Given the description of an element on the screen output the (x, y) to click on. 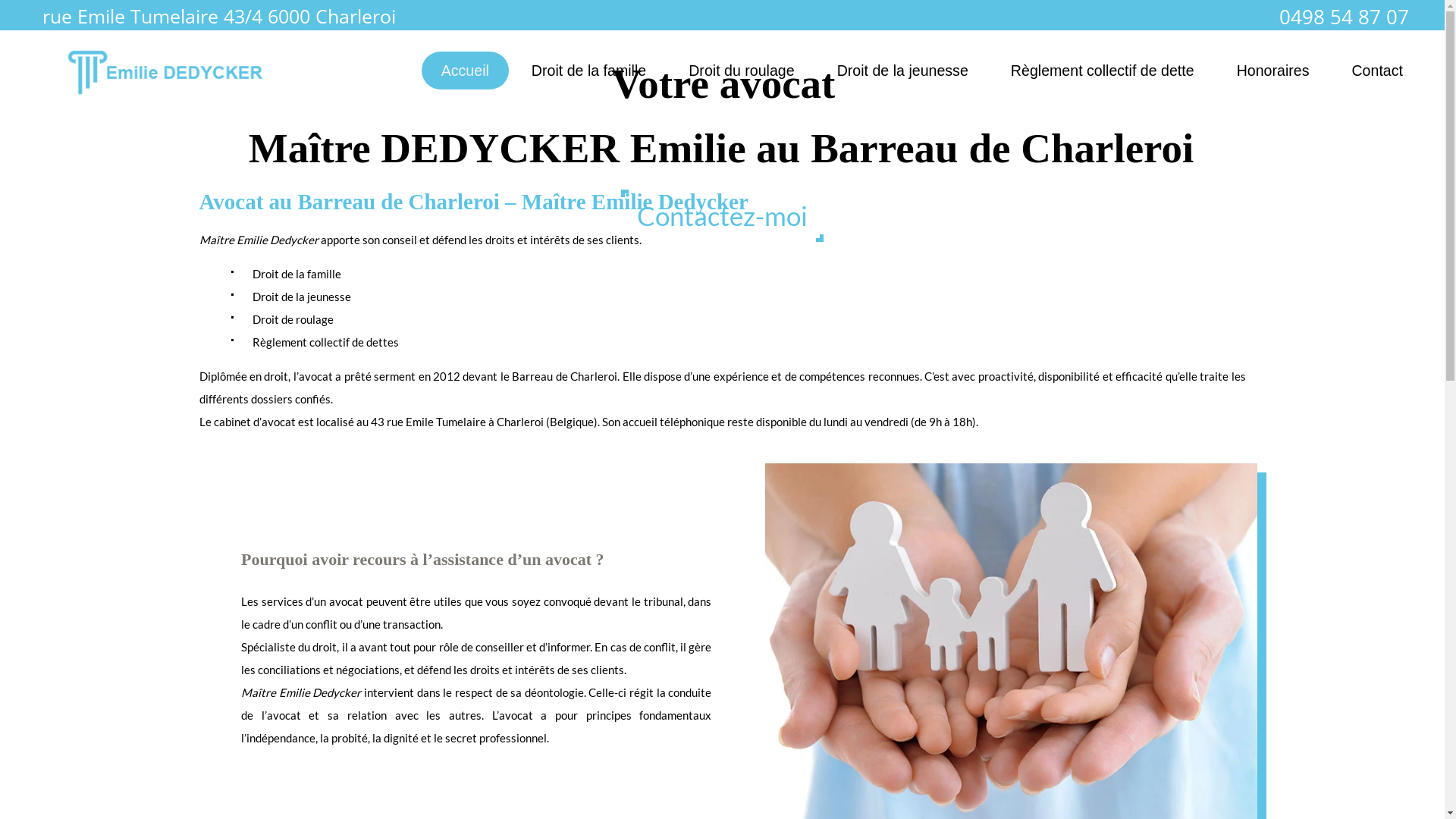
Droit du roulage Element type: text (740, 70)
0498 54 87 07 Element type: text (1343, 14)
Contactez-moi Element type: text (721, 215)
Droit de la famille Element type: text (588, 70)
Honoraires Element type: text (1273, 70)
Droit de la jeunesse Element type: text (902, 70)
Accueil Element type: text (464, 70)
Contact Element type: text (1376, 70)
